Given the description of an element on the screen output the (x, y) to click on. 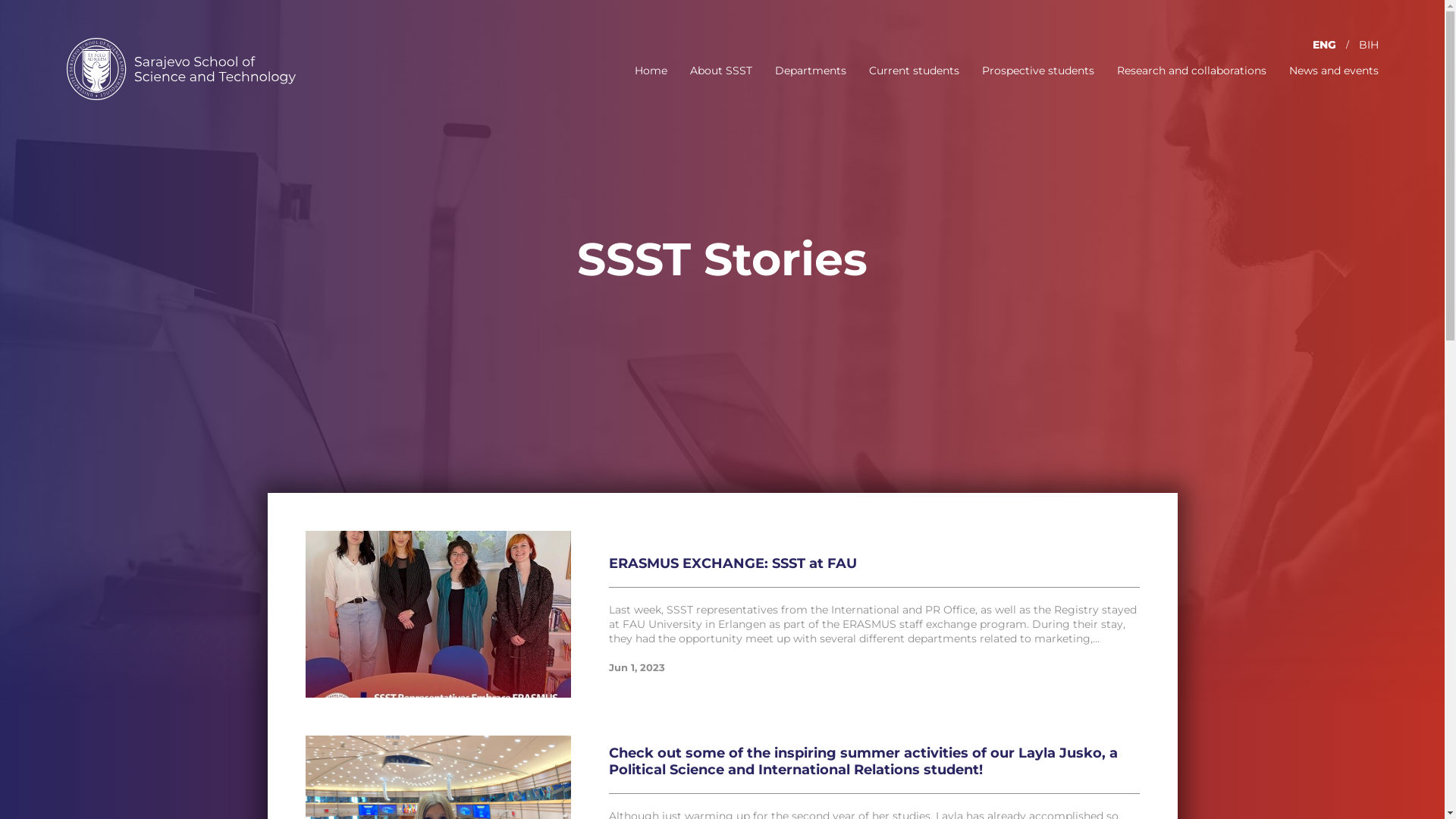
News and events Element type: text (1333, 70)
BIH Element type: text (1368, 44)
Prospective students Element type: text (1037, 70)
Research and collaborations Element type: text (1190, 70)
ENG Element type: text (1323, 44)
Departments Element type: text (810, 70)
About SSST Element type: text (721, 70)
Home Element type: text (649, 70)
Current students Element type: text (914, 70)
